Given the description of an element on the screen output the (x, y) to click on. 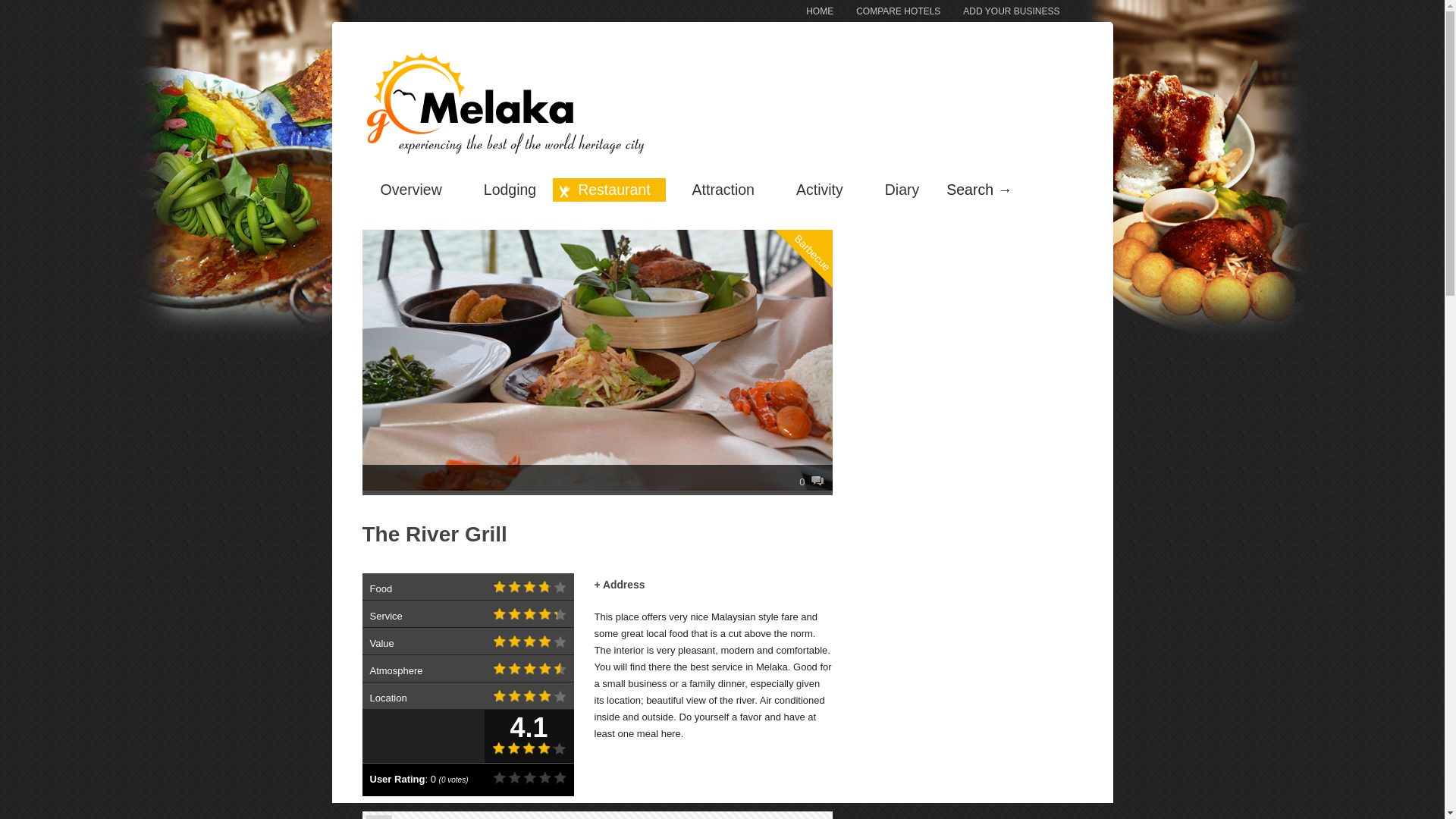
Attraction (718, 189)
Lodging (504, 189)
COMPARE HOTELS (886, 10)
Restaurant (609, 189)
HOME (807, 10)
Barbecue (826, 191)
Overview (409, 189)
Activity (815, 189)
ADD YOUR BUSINESS (999, 10)
Diary (897, 189)
